Given the description of an element on the screen output the (x, y) to click on. 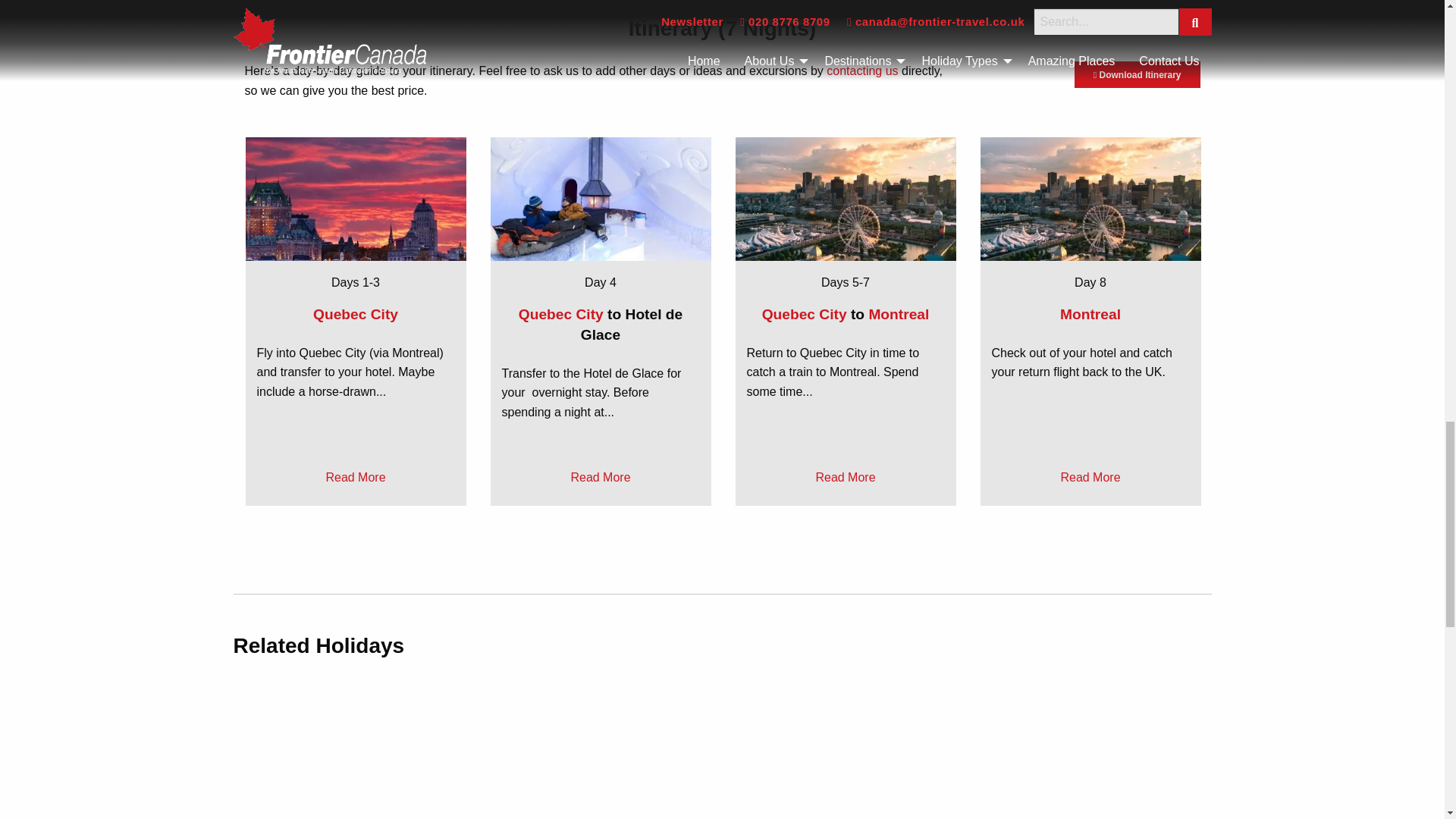
View Quebec City (805, 314)
View Quebec City (355, 314)
View Montreal (897, 314)
View Montreal (1090, 314)
View Quebec City (562, 314)
